Given the description of an element on the screen output the (x, y) to click on. 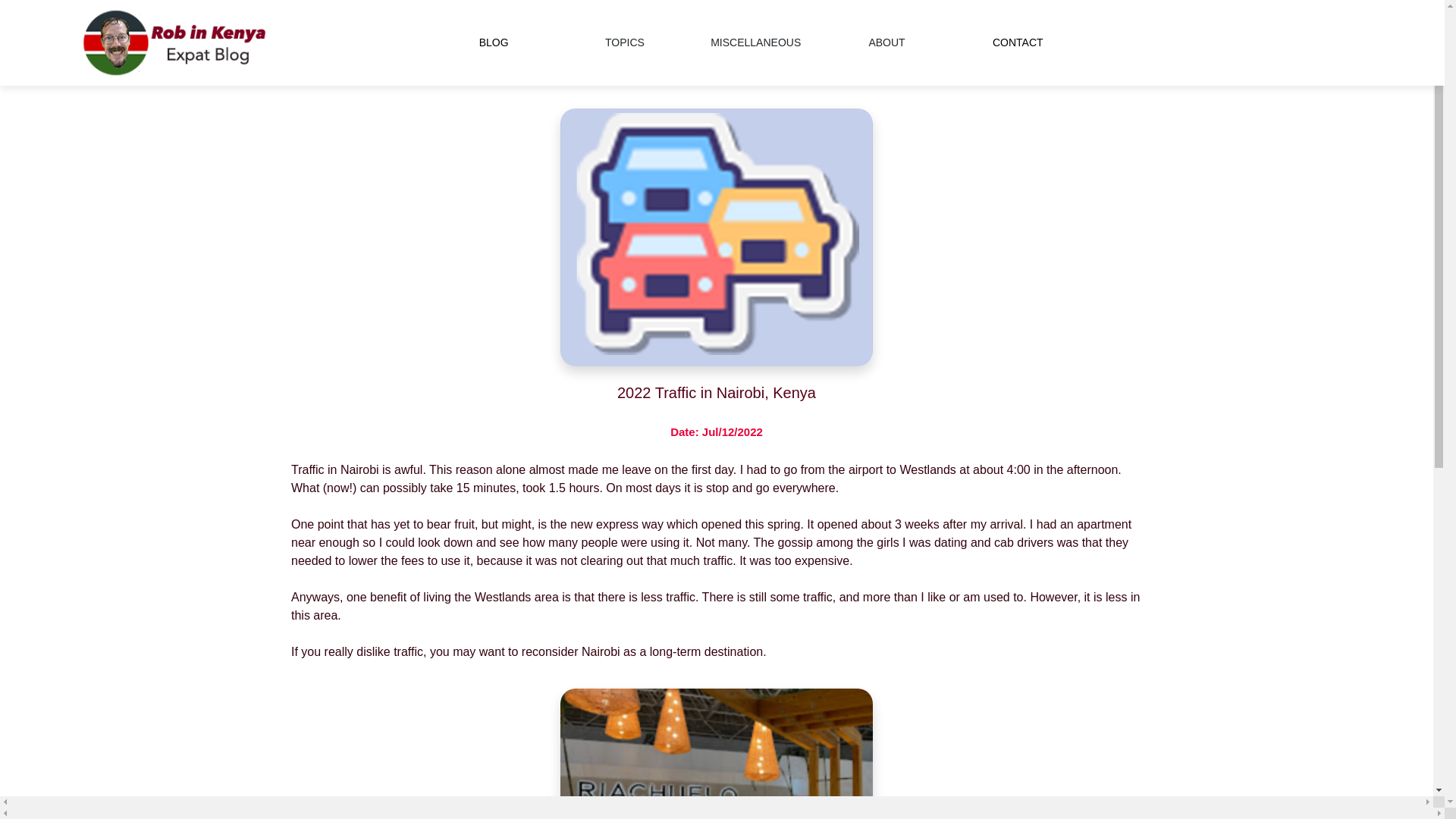
CONTACT (1017, 42)
BLOG (493, 42)
